Given the description of an element on the screen output the (x, y) to click on. 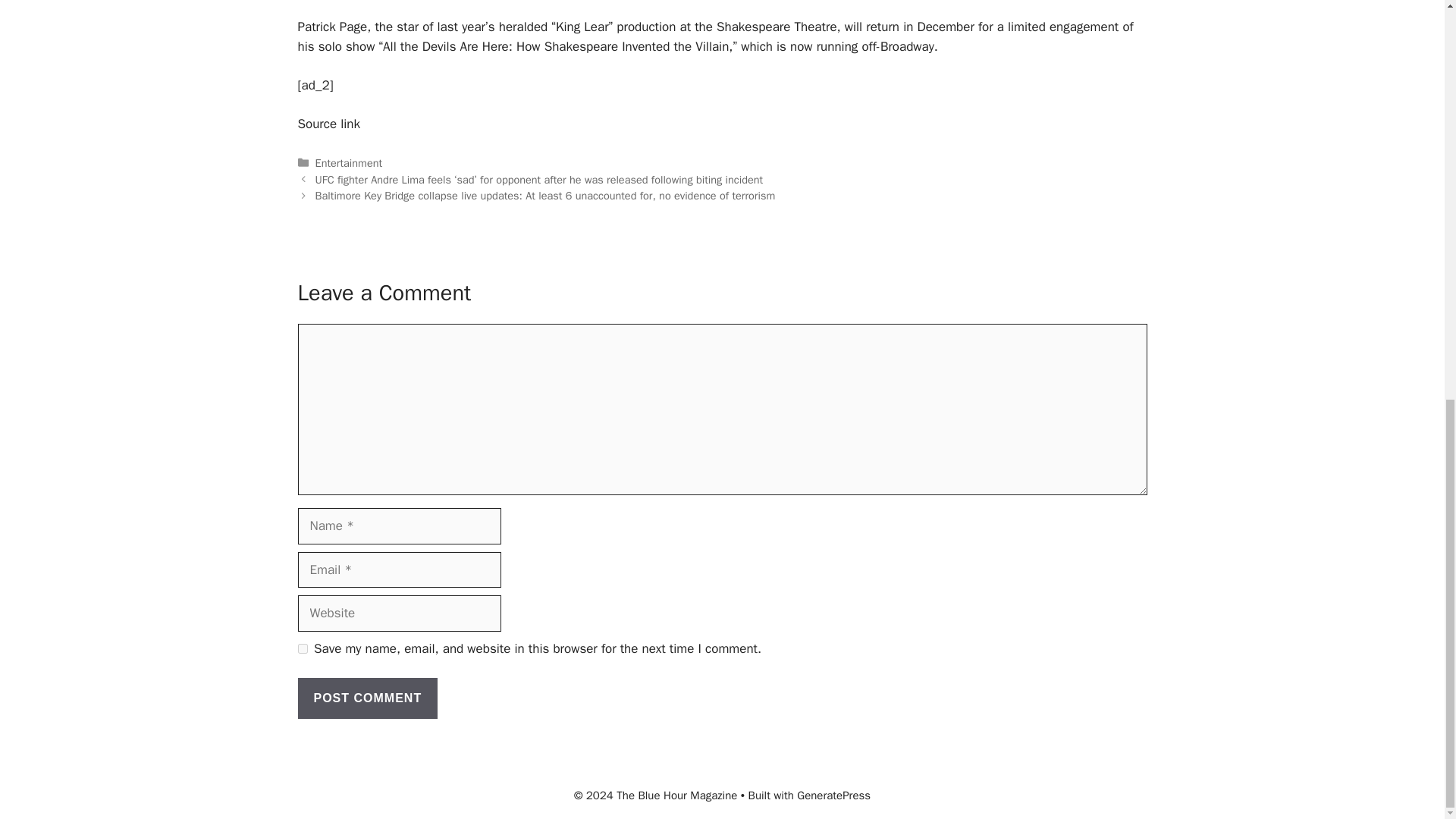
Scroll back to top (1406, 758)
Post Comment (367, 698)
Entertainment (348, 162)
Source link (328, 123)
GeneratePress (833, 795)
yes (302, 648)
Post Comment (367, 698)
